Given the description of an element on the screen output the (x, y) to click on. 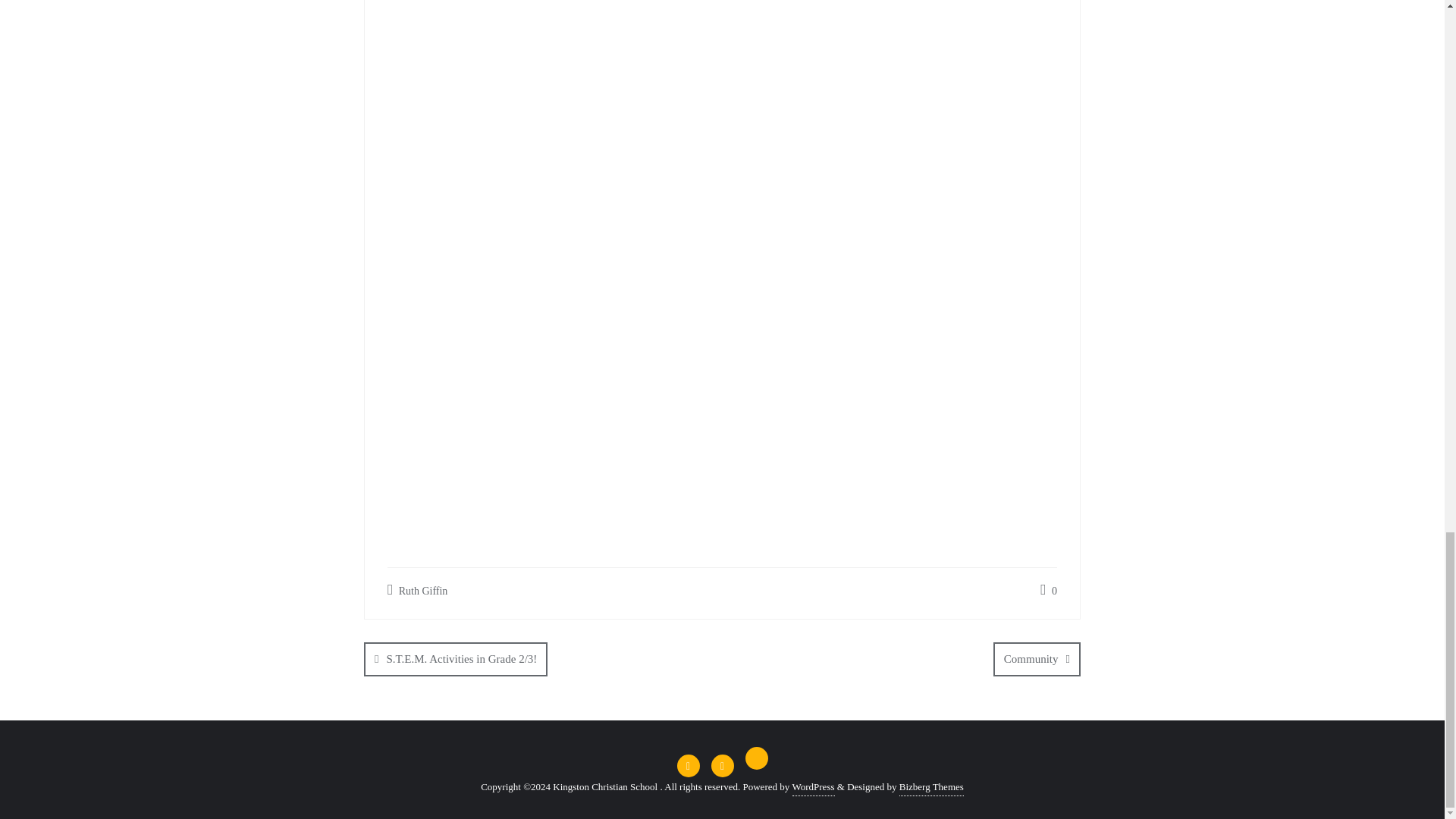
WordPress (813, 787)
Community (1036, 659)
Ruth Giffin (416, 590)
